Given the description of an element on the screen output the (x, y) to click on. 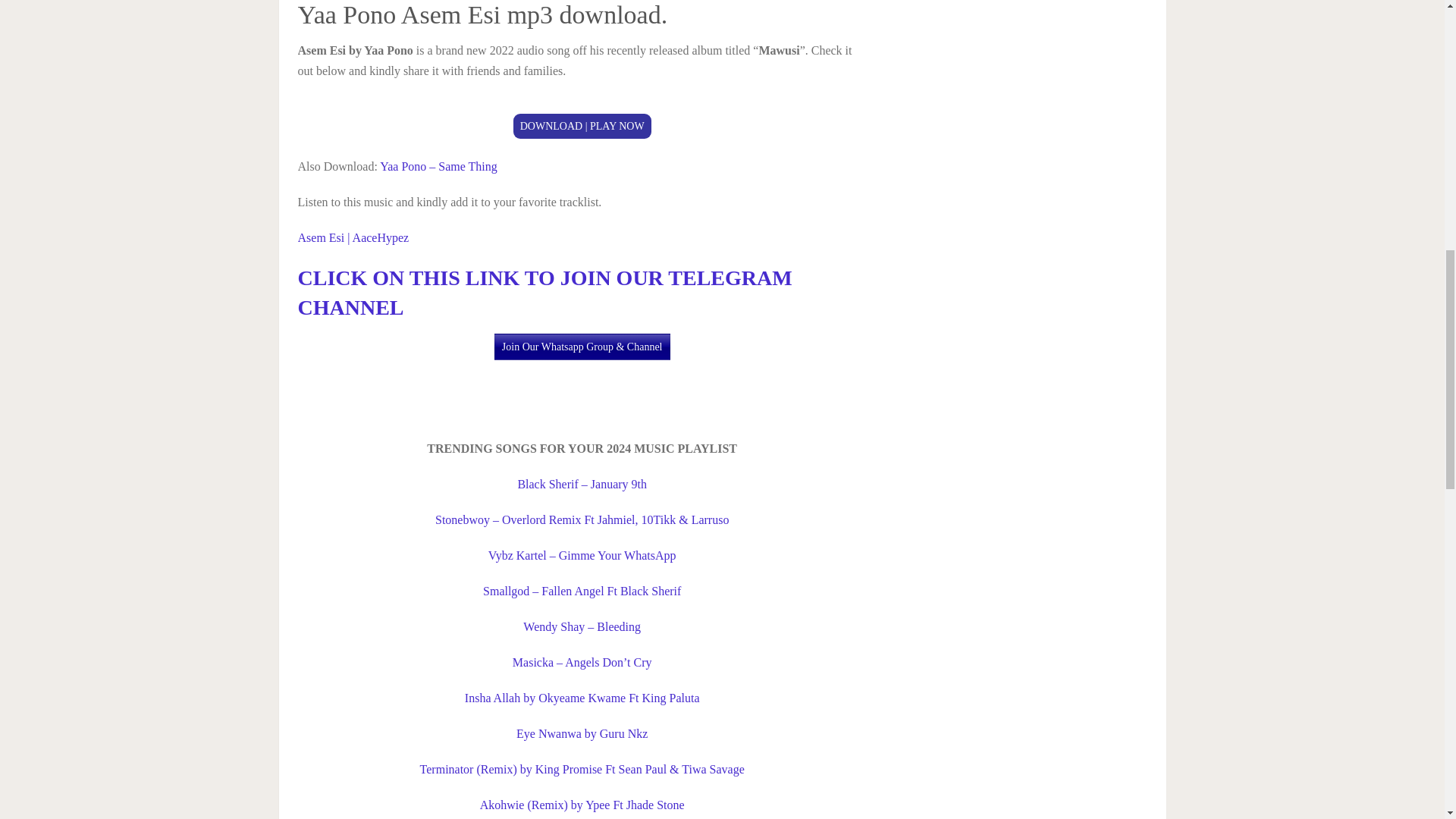
Insha Allah by Okyeame Kwame Ft King Paluta (582, 697)
CLICK ON THIS LINK TO JOIN OUR TELEGRAM CHANNEL (544, 292)
Eye Nwanwa by Guru Nkz (581, 733)
